Given the description of an element on the screen output the (x, y) to click on. 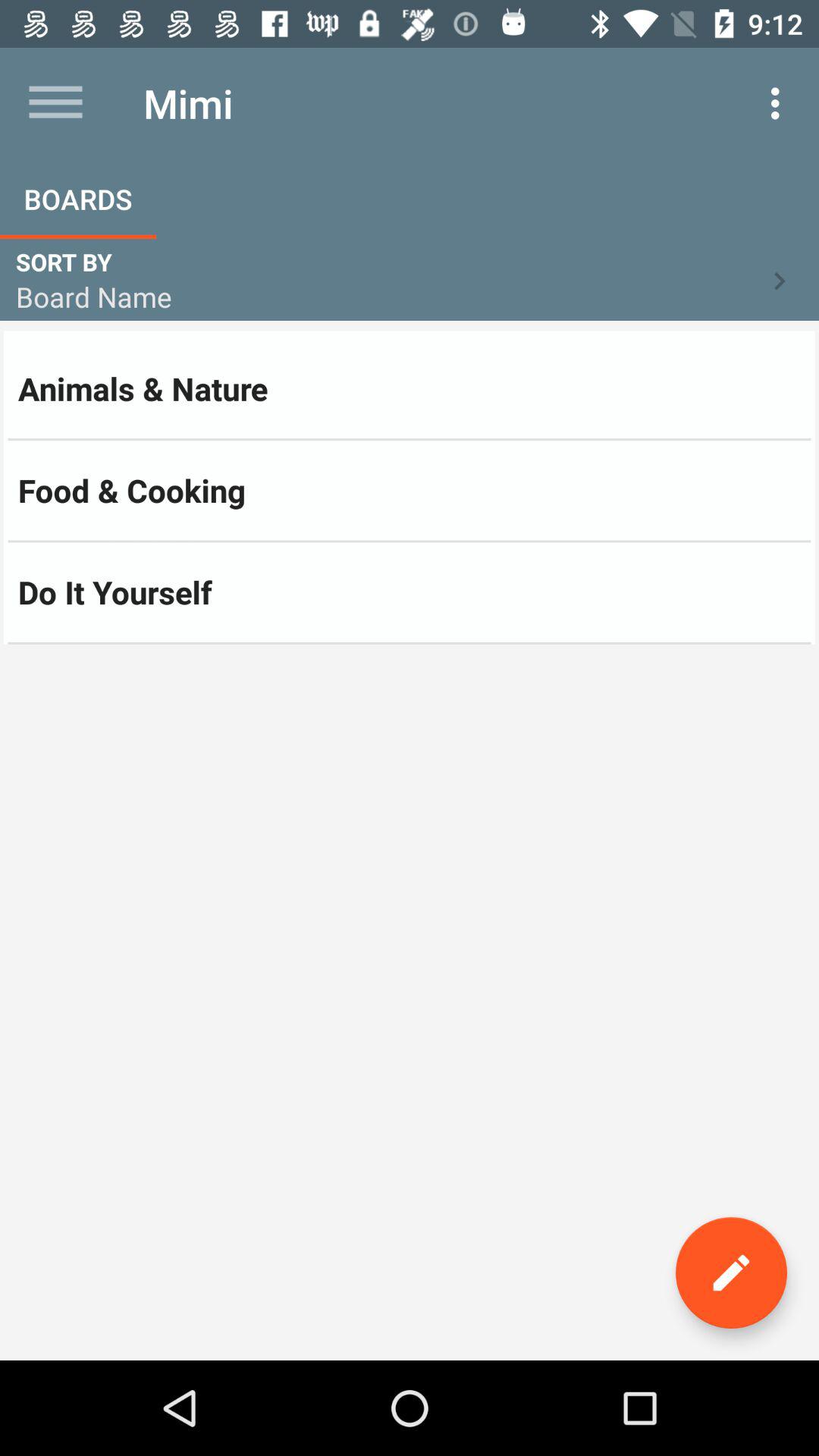
open the item at the bottom right corner (731, 1272)
